Given the description of an element on the screen output the (x, y) to click on. 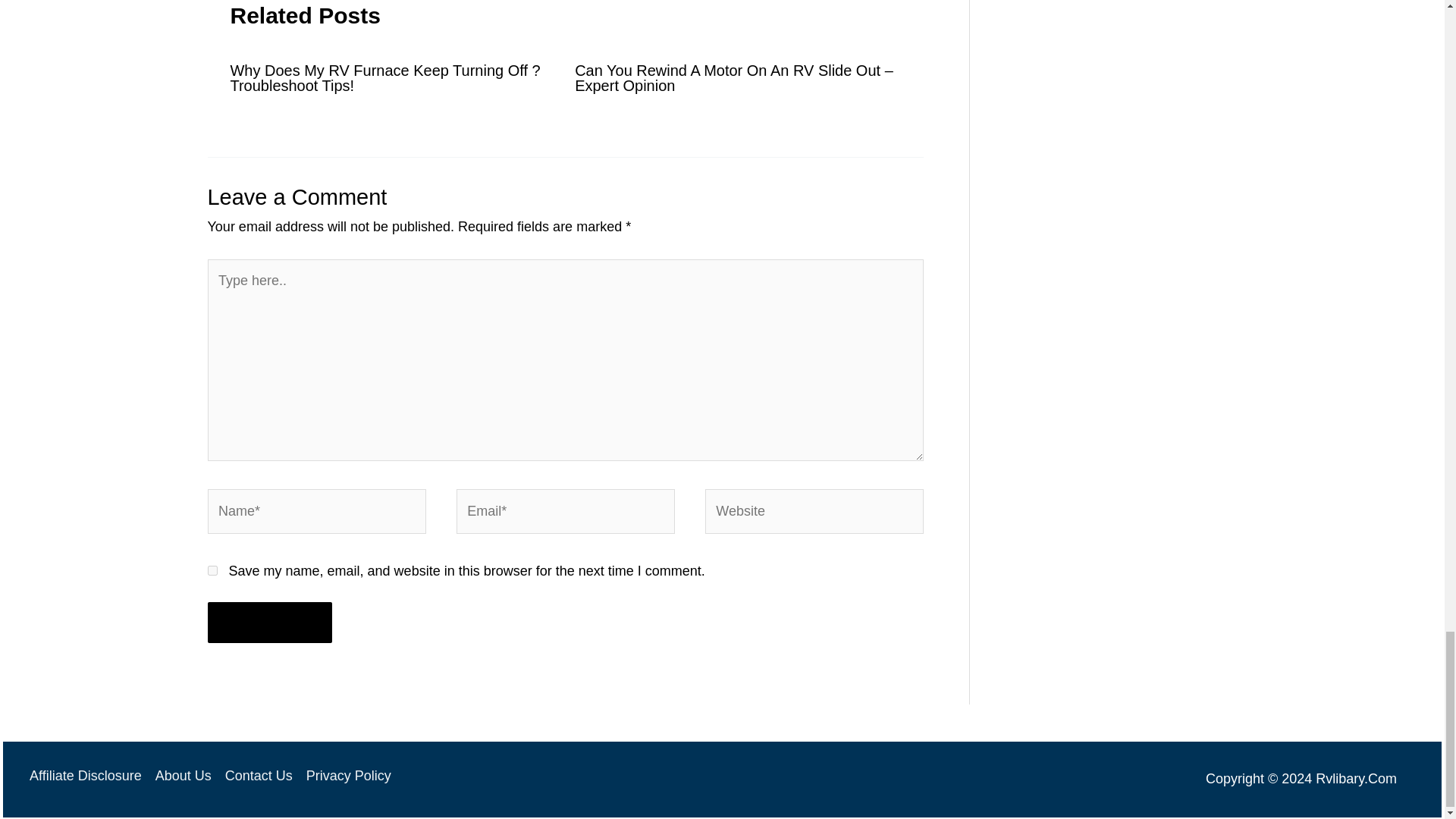
Affiliate Disclosure (88, 775)
About Us (183, 775)
yes (212, 570)
Contact Us (258, 775)
Privacy Policy (345, 775)
Why Does My RV Furnace Keep Turning Off ? Troubleshoot Tips! (385, 78)
